Given the description of an element on the screen output the (x, y) to click on. 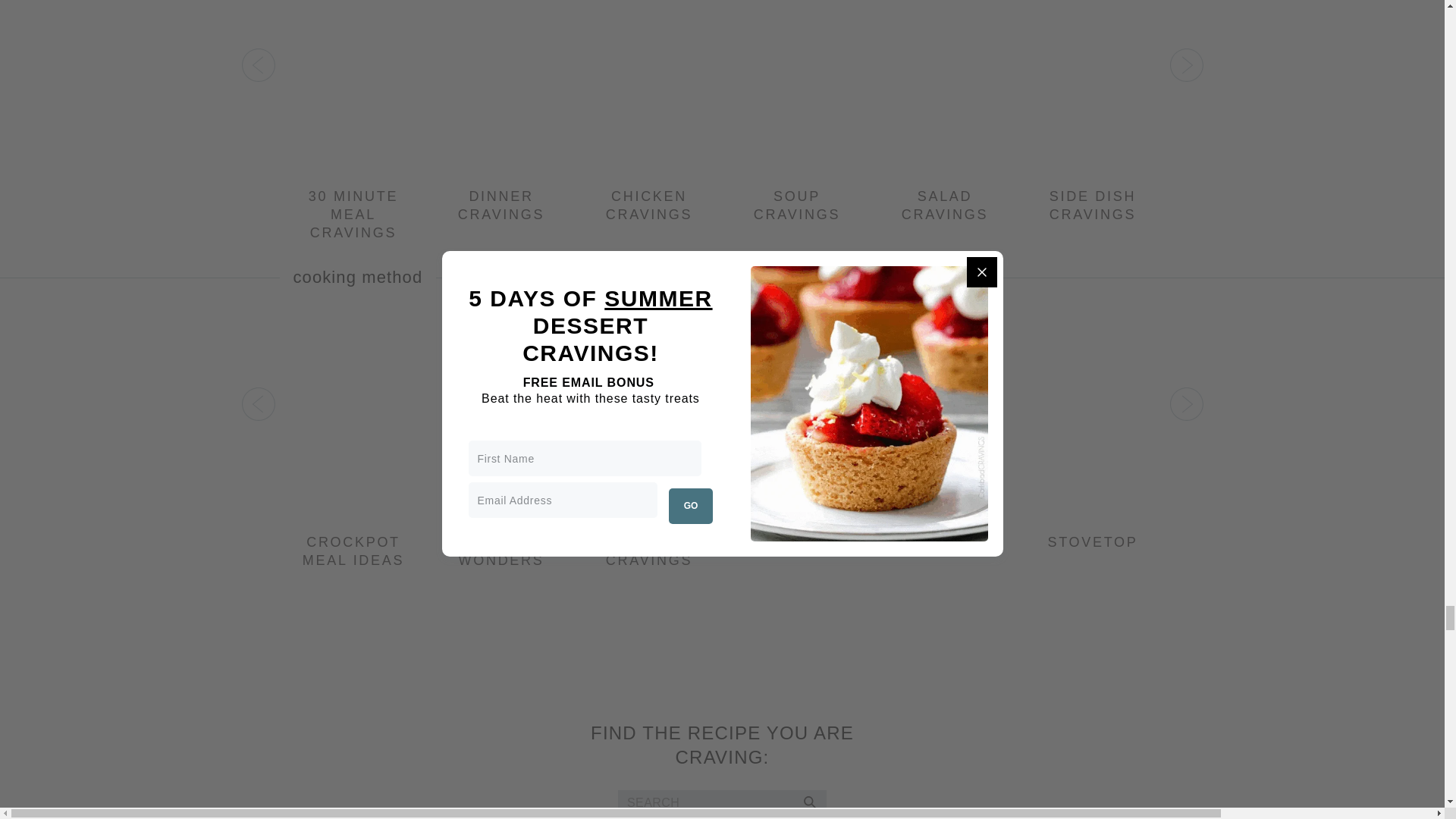
Search for (722, 802)
